Given the description of an element on the screen output the (x, y) to click on. 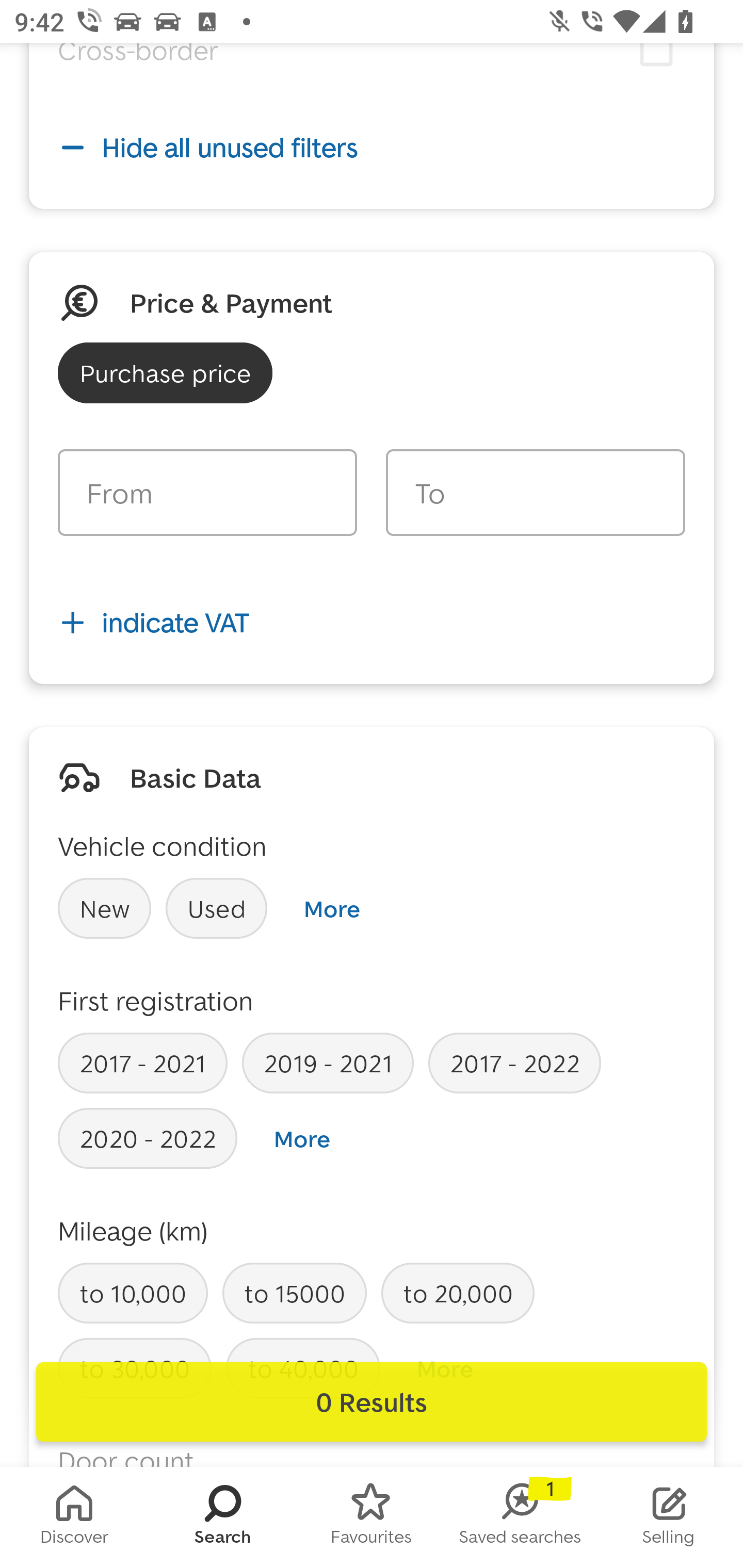
Hide all unused filters (371, 147)
Price & Payment (231, 302)
Purchase price (164, 371)
From (207, 493)
To (535, 493)
indicate VAT (371, 622)
Basic Data (195, 777)
Vehicle condition (161, 845)
New (103, 908)
Used (216, 908)
More (331, 908)
First registration (155, 1000)
2017 - 2021 (142, 1062)
2019 - 2021 (327, 1062)
2017 - 2022 (514, 1062)
2020 - 2022 (147, 1138)
More (301, 1138)
Mileage (km) (132, 1230)
to 10,000 (132, 1292)
to 15000 (294, 1292)
to 20,000 (457, 1292)
0 Results (371, 1401)
HOMESCREEN Discover (74, 1517)
SEARCH Search (222, 1517)
FAVORITES Favourites (371, 1517)
SAVED_SEARCHES Saved searches 1 (519, 1517)
STOCK_LIST Selling (668, 1517)
